Given the description of an element on the screen output the (x, y) to click on. 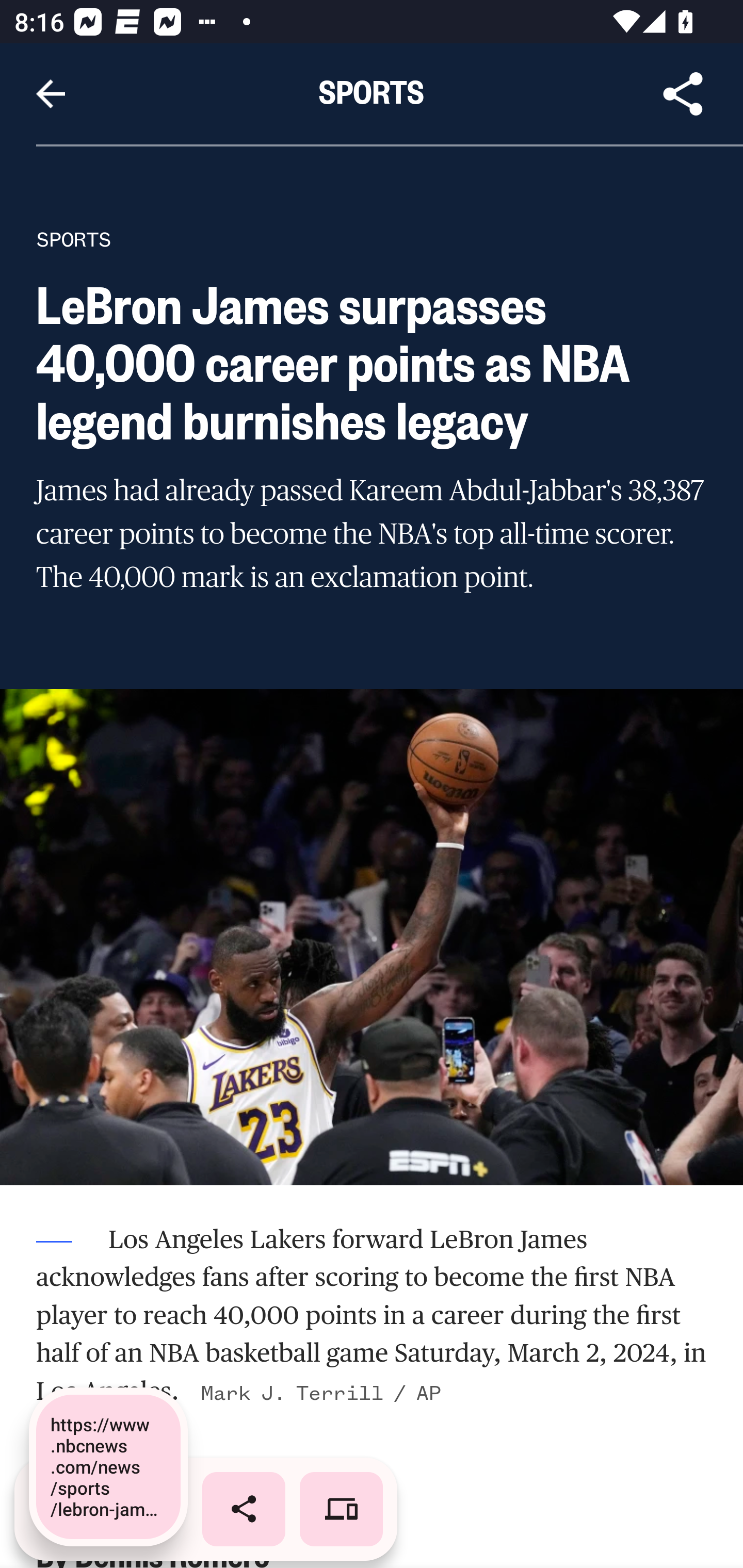
Navigate up (50, 93)
Share Article, button (683, 94)
SPORTS (74, 239)
